Given the description of an element on the screen output the (x, y) to click on. 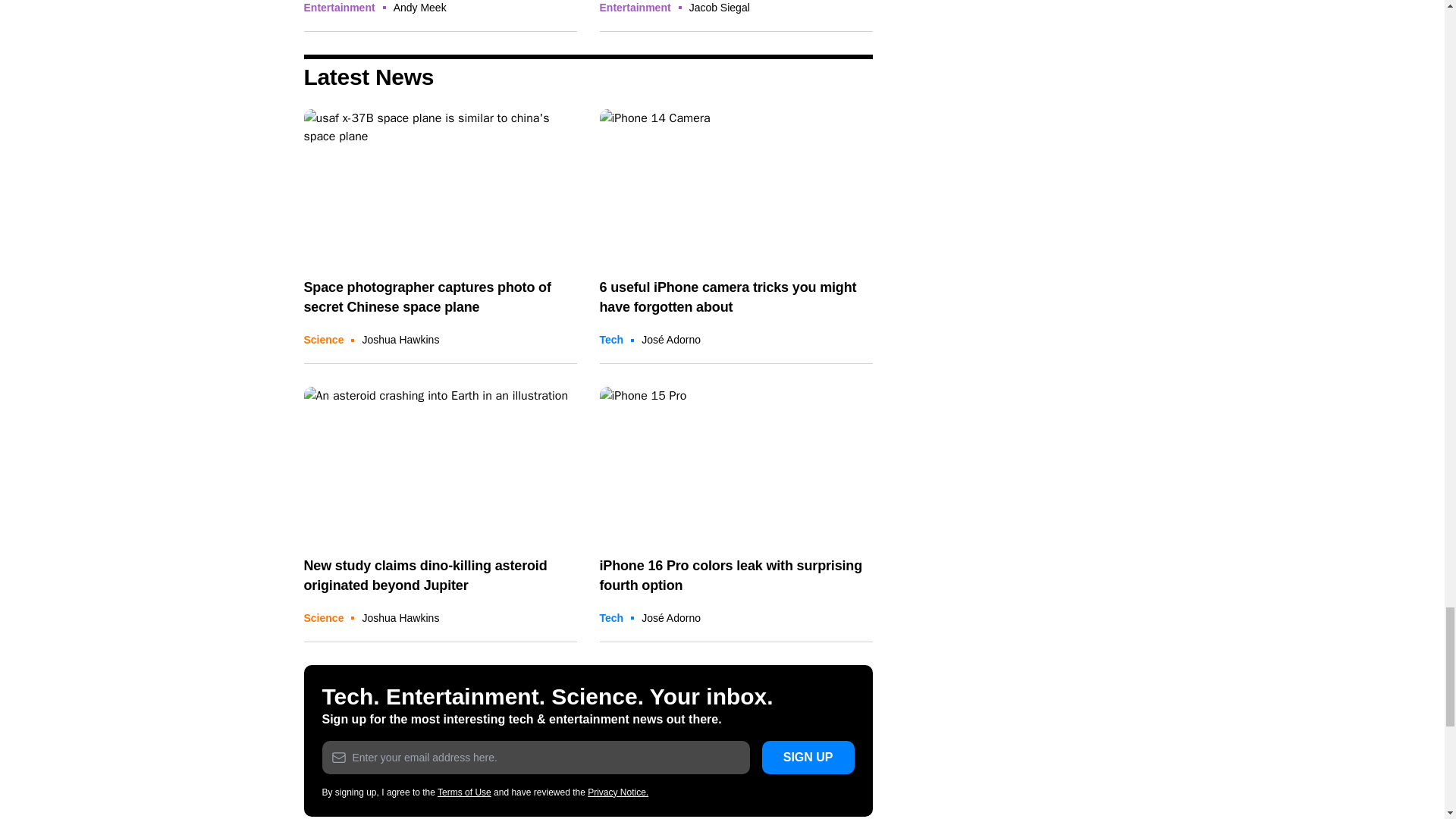
Posts by Joshua Hawkins (400, 617)
photo of Chinese space plane (439, 185)
Posts by Joshua Hawkins (400, 339)
dinosaur-killing asteroid. (439, 463)
Posts by Jacob Siegal (718, 7)
Posts by Andy Meek (419, 7)
